Given the description of an element on the screen output the (x, y) to click on. 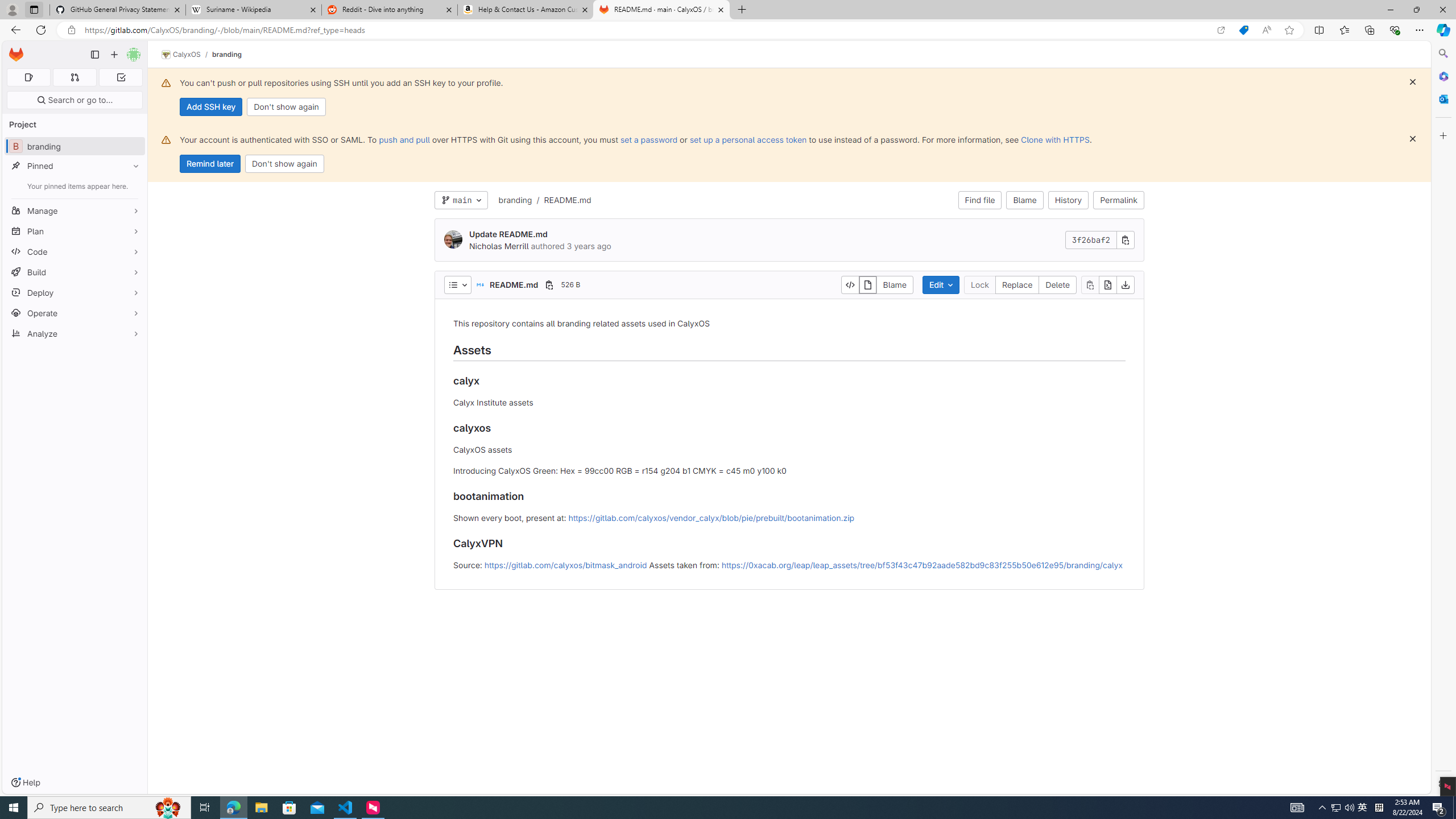
Code (74, 251)
Operate (74, 312)
Merge requests 0 (74, 76)
Clone with HTTPS (1054, 139)
set a password (649, 139)
Copy file contents (1090, 285)
Open in app (1220, 29)
